Given the description of an element on the screen output the (x, y) to click on. 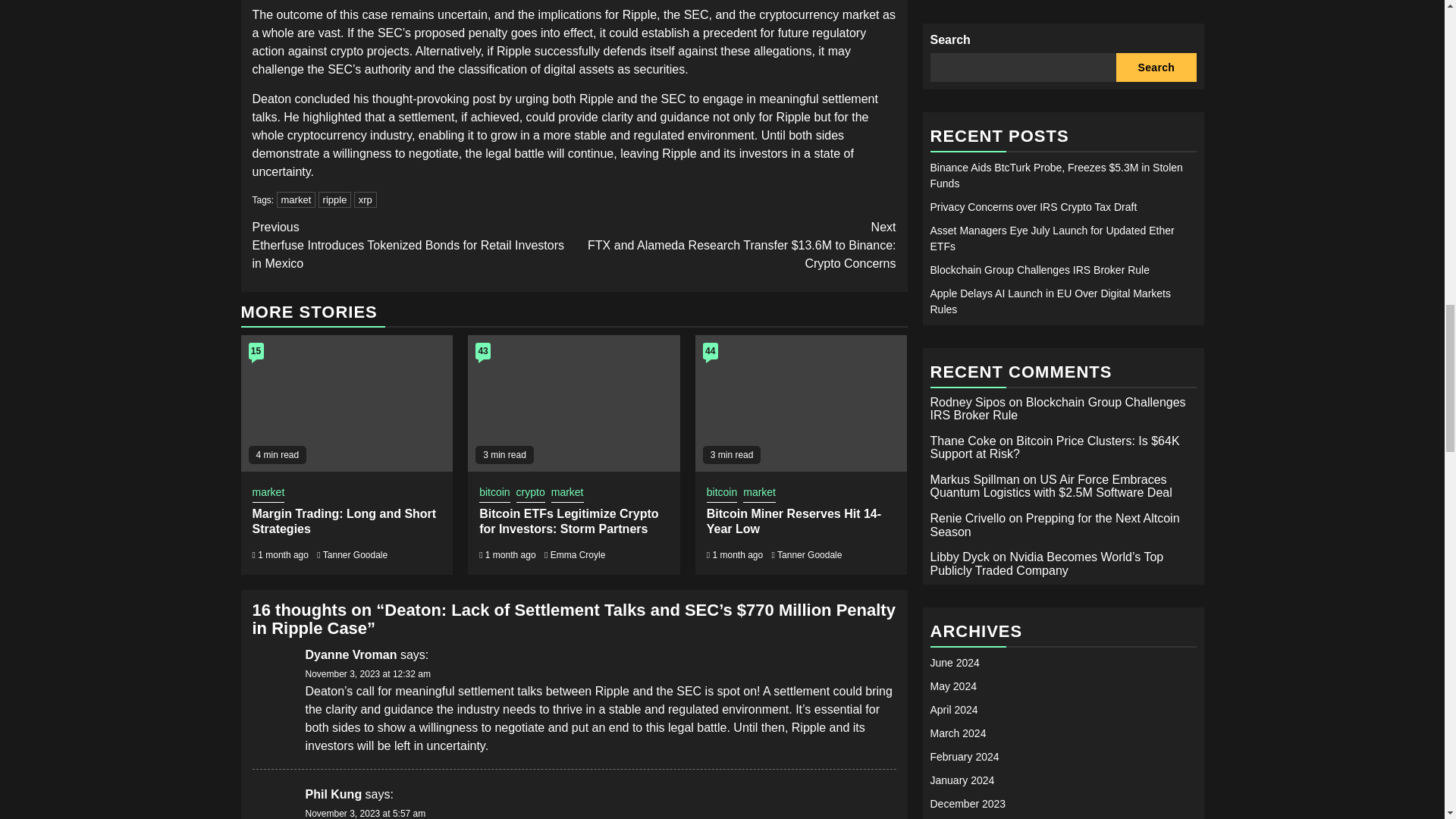
44 (710, 351)
market (567, 493)
Tanner Goodale (355, 554)
Margin Trading: Long and Short Strategies (343, 521)
43 (483, 351)
15 (255, 351)
crypto (530, 493)
bitcoin (721, 493)
bitcoin (494, 493)
ripple (335, 199)
November 3, 2023 at 5:57 am (364, 813)
market (759, 493)
Emma Croyle (577, 554)
Bitcoin Miner Reserves Hit 14-Year Low (793, 521)
